Given the description of an element on the screen output the (x, y) to click on. 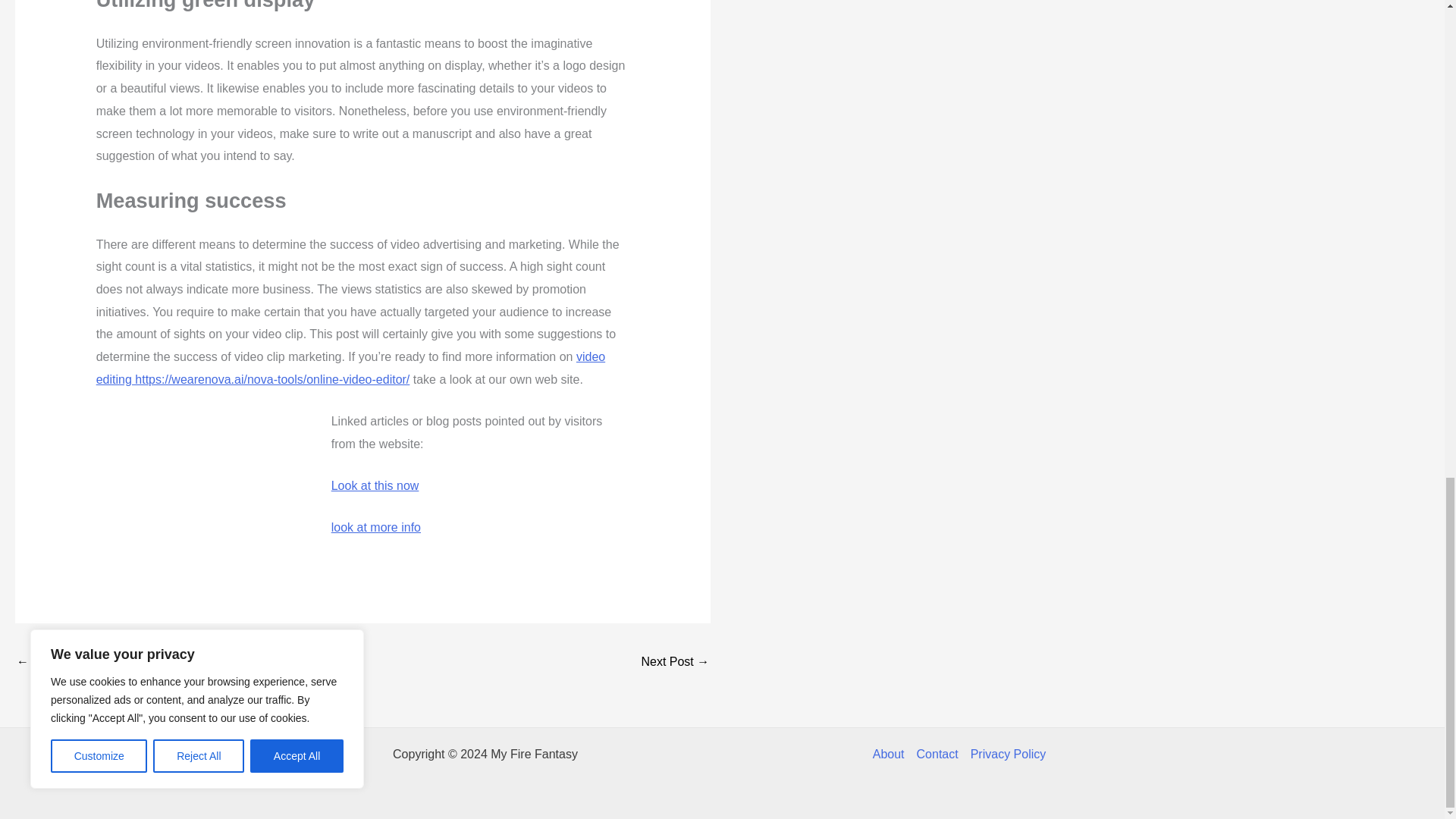
look at more info (375, 526)
Look at this now (375, 485)
Sorts of E-Juice (674, 663)
Earn Money Like A Virtual Assistant (61, 663)
